Given the description of an element on the screen output the (x, y) to click on. 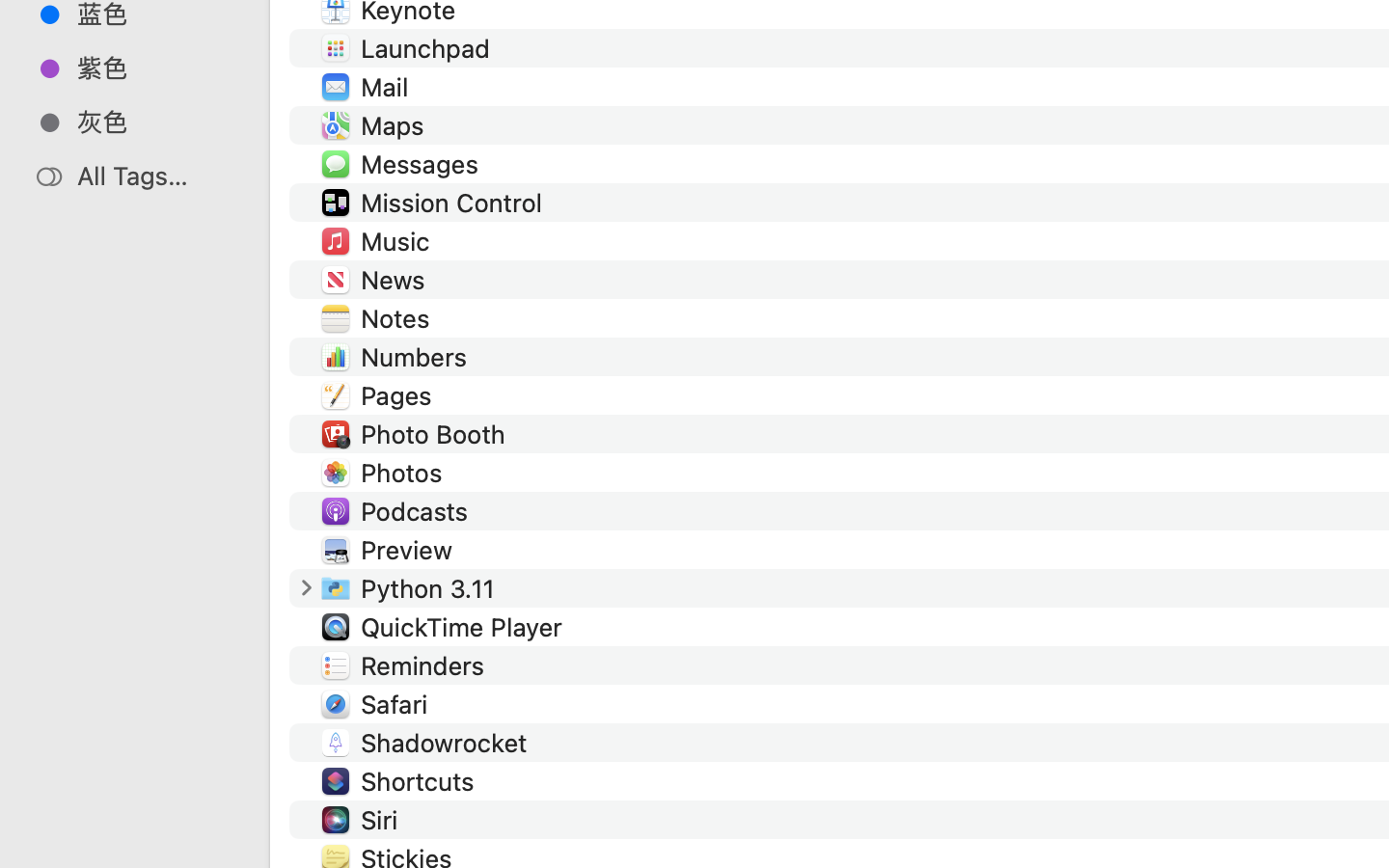
QuickTime Player Element type: AXTextField (465, 626)
Music Element type: AXTextField (398, 240)
Preview Element type: AXTextField (410, 549)
